Given the description of an element on the screen output the (x, y) to click on. 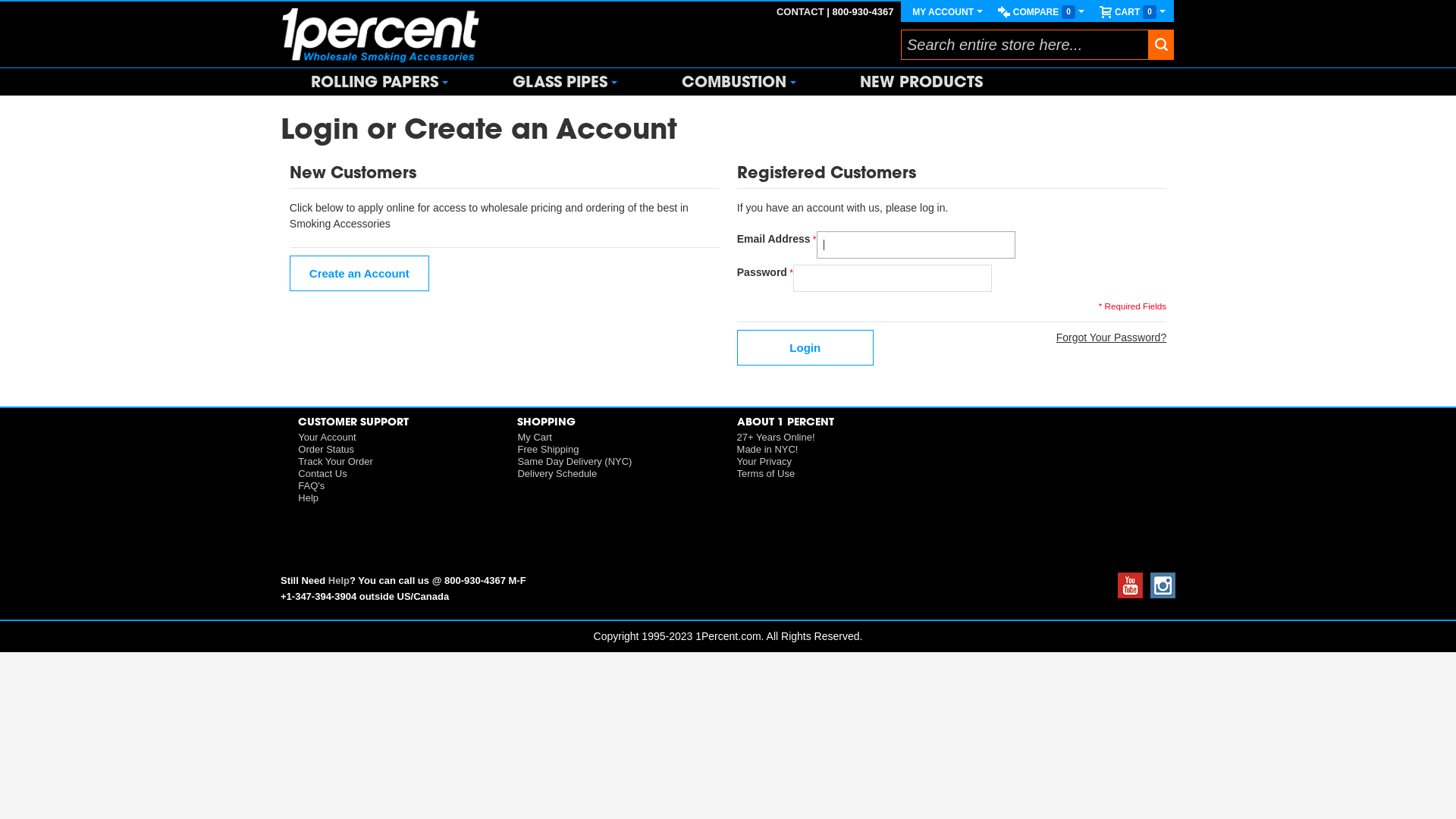
CONTACT Element type: text (800, 11)
Free Shipping Element type: text (547, 449)
Same Day Delivery (NYC) Element type: text (574, 461)
ROLLING PAPERS  Element type: text (381, 81)
NEW PRODUCTS Element type: text (920, 81)
Made in NYC! Element type: text (767, 449)
Track Your Order Element type: text (335, 461)
Forgot Your Password? Element type: text (1111, 337)
Create an Account Element type: text (359, 273)
FAQ's Element type: text (311, 485)
CART 0   Element type: text (1132, 11)
Help Element type: text (338, 580)
Search Element type: hover (1160, 44)
Password Element type: hover (892, 277)
Delivery Schedule Element type: text (556, 473)
Your Account Element type: text (326, 436)
Order Status Element type: text (326, 449)
Youtube Element type: hover (1127, 594)
Contact Us Element type: text (322, 473)
My Cart Element type: text (534, 436)
27+ Years Online! Element type: text (776, 436)
Instagram Element type: hover (1160, 594)
1 Percent Wholesale Element type: hover (380, 34)
GLASS PIPES  Element type: text (566, 81)
Login Element type: text (805, 347)
Terms of Use Element type: text (766, 473)
COMBUSTION  Element type: text (740, 81)
Email Address Element type: hover (915, 244)
Help Element type: text (308, 497)
Your Privacy Element type: text (764, 461)
